Given the description of an element on the screen output the (x, y) to click on. 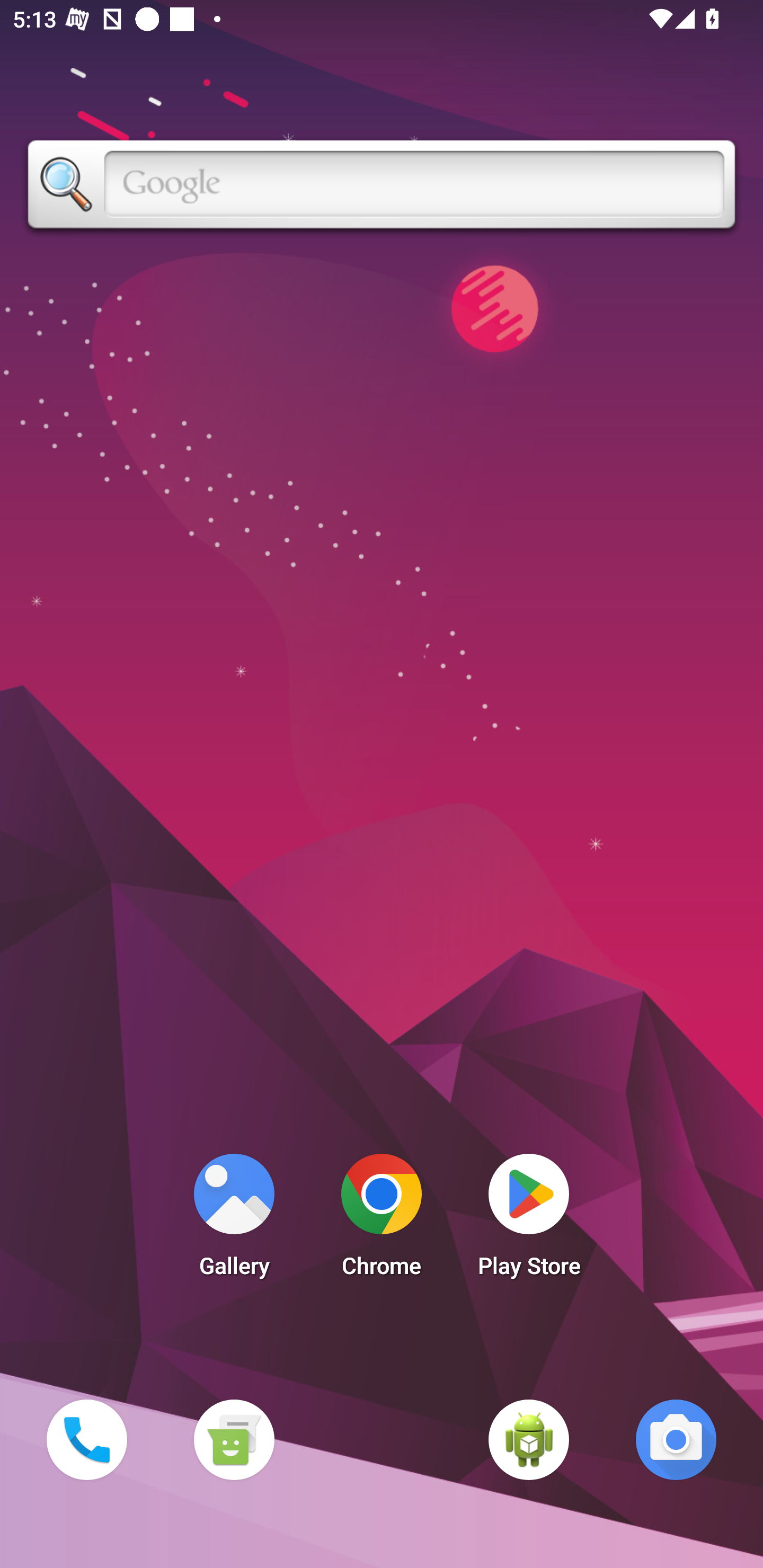
Gallery (233, 1220)
Chrome (381, 1220)
Play Store (528, 1220)
Phone (86, 1439)
Messaging (233, 1439)
WebView Browser Tester (528, 1439)
Camera (676, 1439)
